Given the description of an element on the screen output the (x, y) to click on. 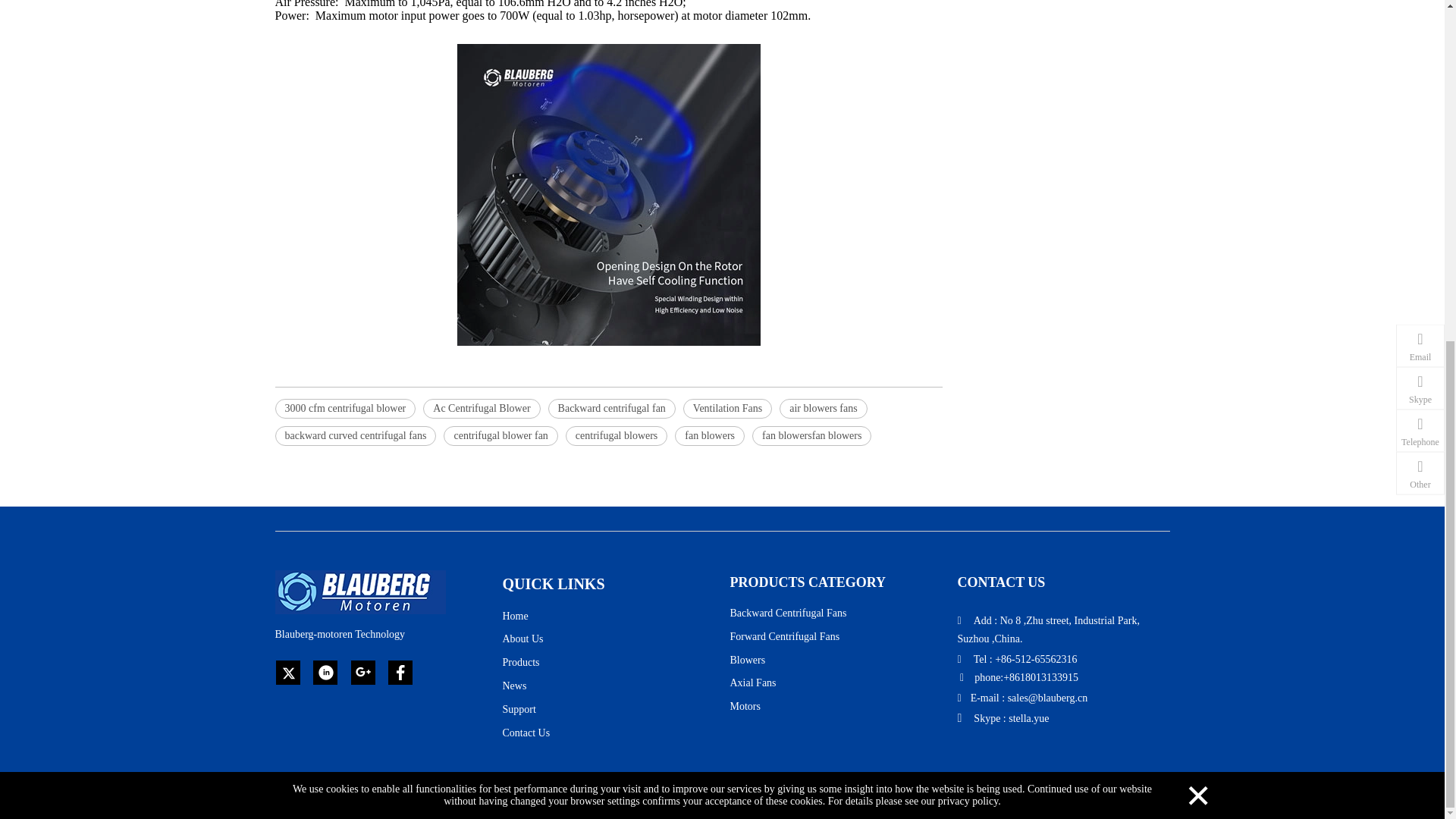
Backward centrifugal fan (611, 408)
Ac Centrifugal Blower (481, 408)
3000 cfm centrifugal blower (344, 408)
fan blowers (709, 435)
air blowers fans (822, 408)
Facebook (400, 672)
centrifugal blower fan (500, 435)
Linkedin (325, 672)
fan blowersfan blowers (811, 435)
Ventilation Fans (726, 408)
Twitter (287, 672)
centrifugal blowers (616, 435)
backward curved centrifugal fans (355, 435)
logo (360, 592)
Water Proof Motorized Fans (608, 194)
